Given the description of an element on the screen output the (x, y) to click on. 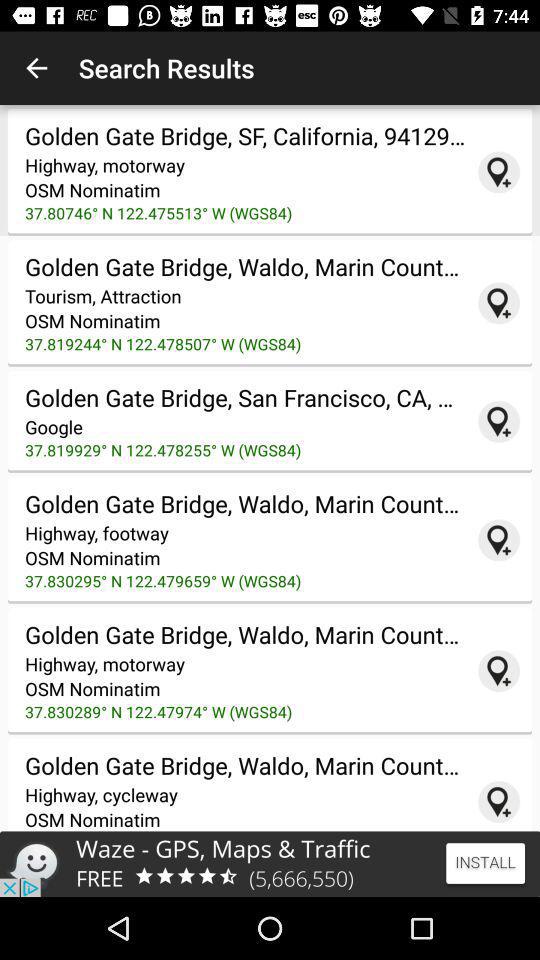
add to map (499, 421)
